Given the description of an element on the screen output the (x, y) to click on. 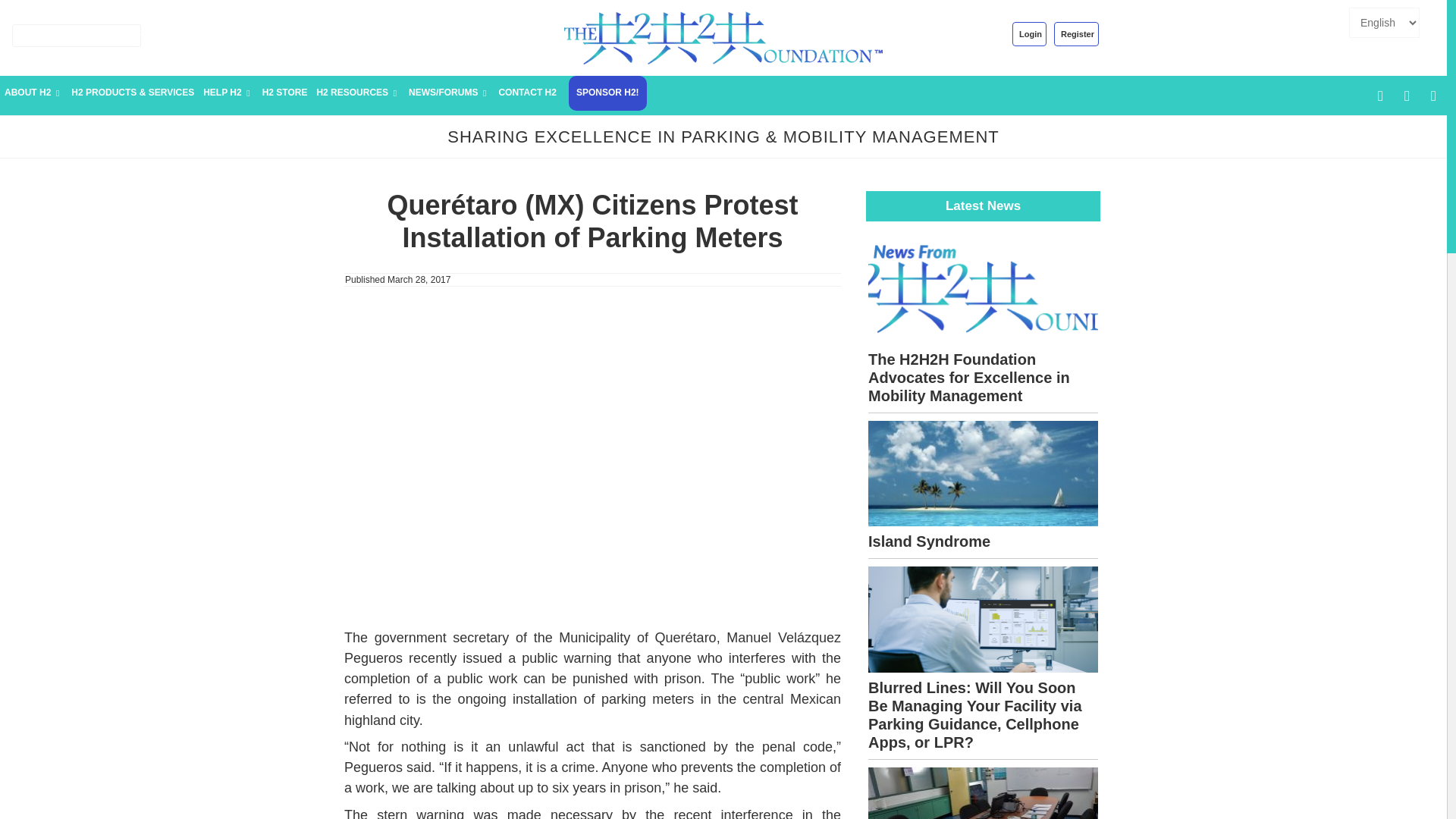
Island Syndrome (928, 541)
H2 STORE (285, 93)
6:22 am (418, 279)
 Register (1076, 33)
ABOUT H2 (33, 93)
 Login (1028, 33)
Search (125, 35)
Island Syndrome (982, 476)
Search (125, 35)
Login (1028, 33)
H2 RESOURCES (357, 93)
HELP H2 (227, 93)
Search (125, 35)
